Given the description of an element on the screen output the (x, y) to click on. 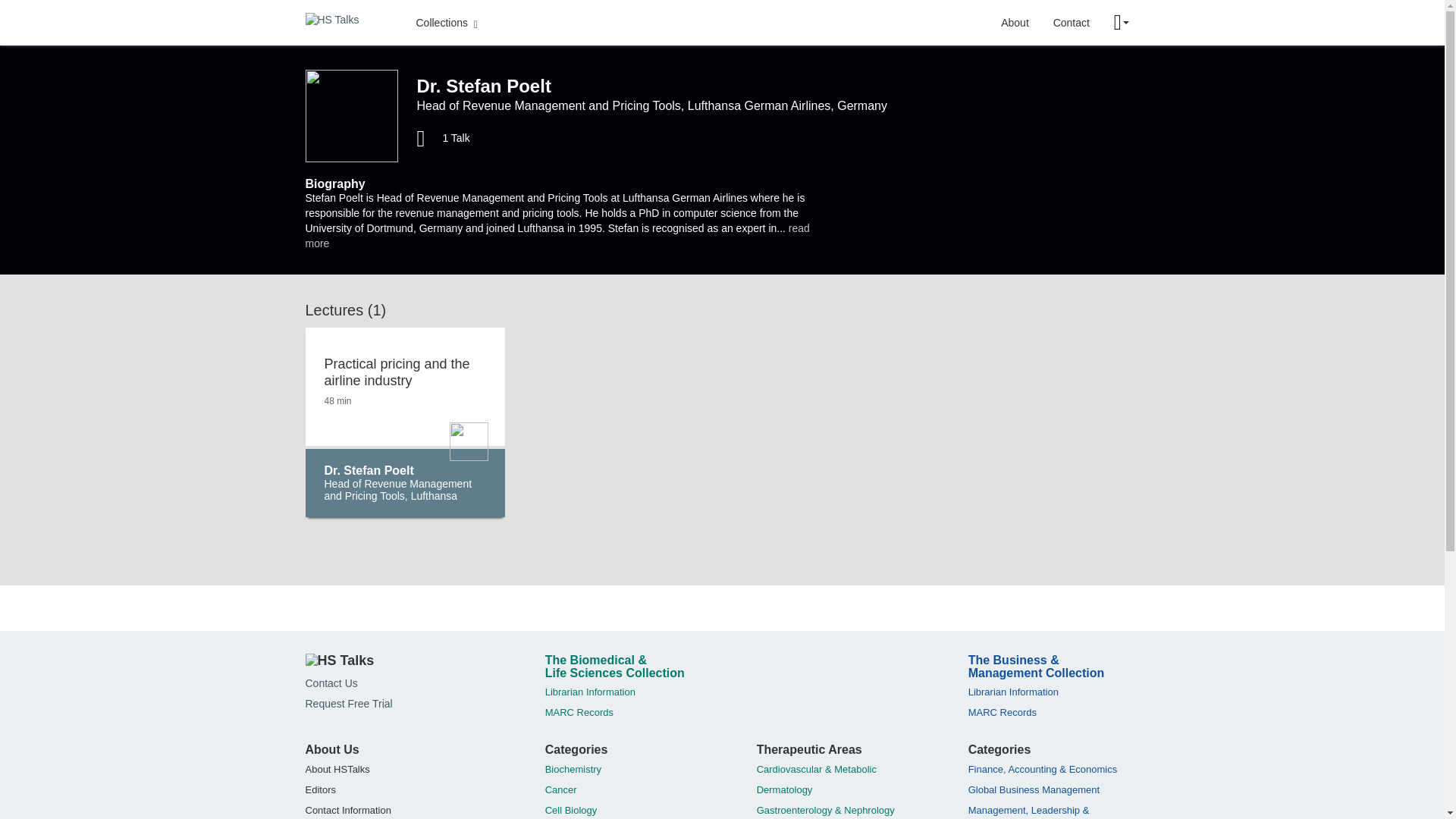
About (1015, 22)
MARC Records (578, 712)
Contact Information (347, 809)
Request Free Trial (347, 703)
Cell Biology (570, 809)
MARC Records (1002, 712)
Collections   (445, 22)
About HSTalks (336, 768)
Contact (1070, 22)
